Given the description of an element on the screen output the (x, y) to click on. 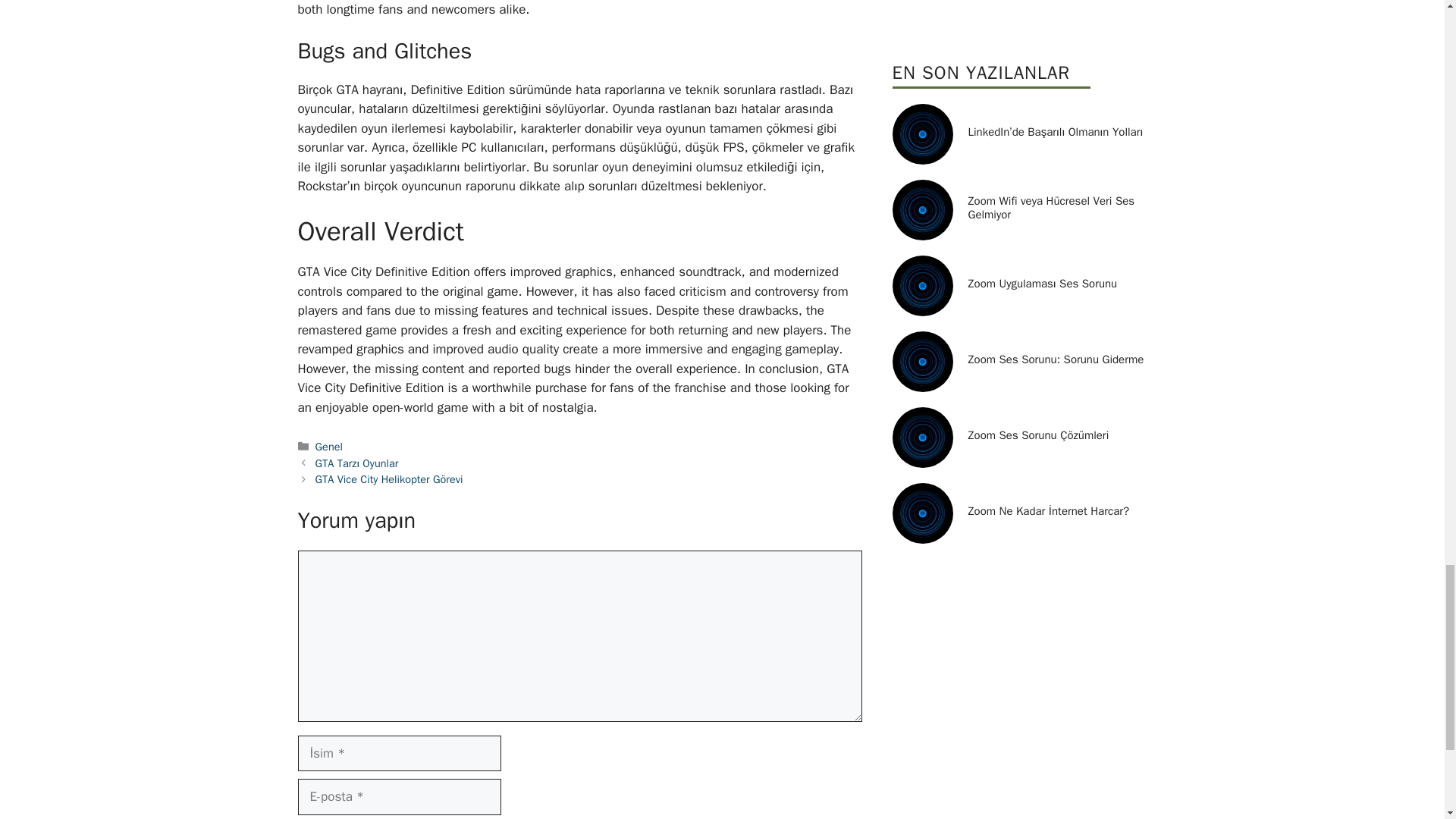
Genel (328, 446)
